Given the description of an element on the screen output the (x, y) to click on. 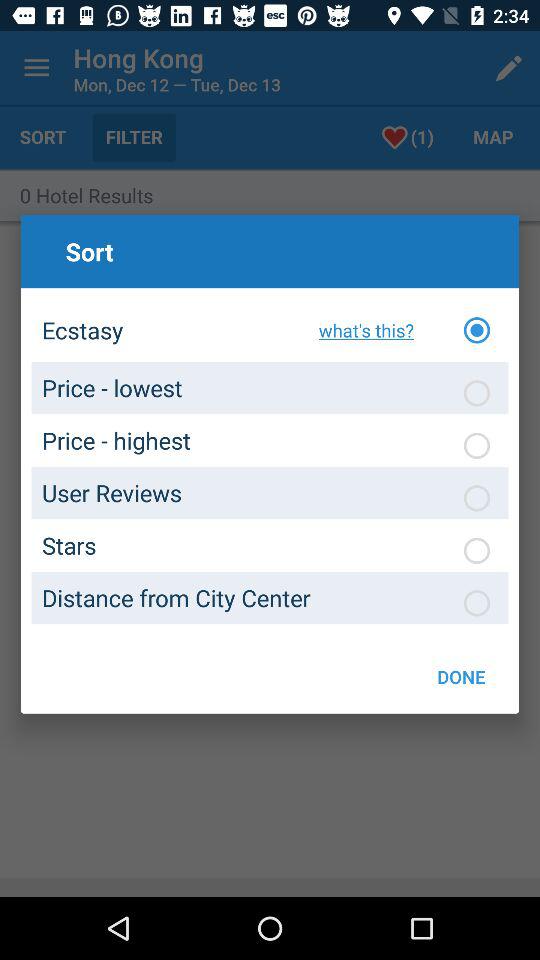
click to price-lowest option (477, 393)
